Given the description of an element on the screen output the (x, y) to click on. 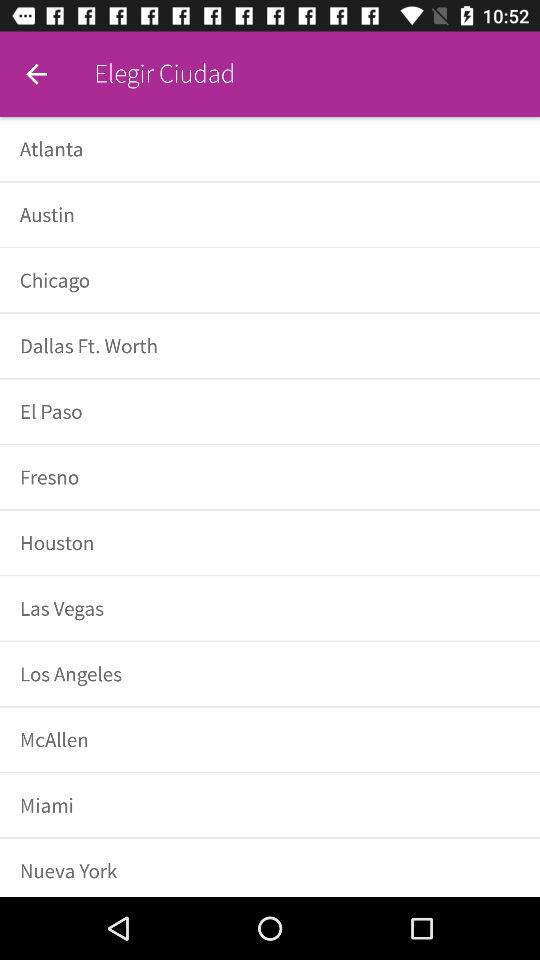
back option (36, 74)
